Given the description of an element on the screen output the (x, y) to click on. 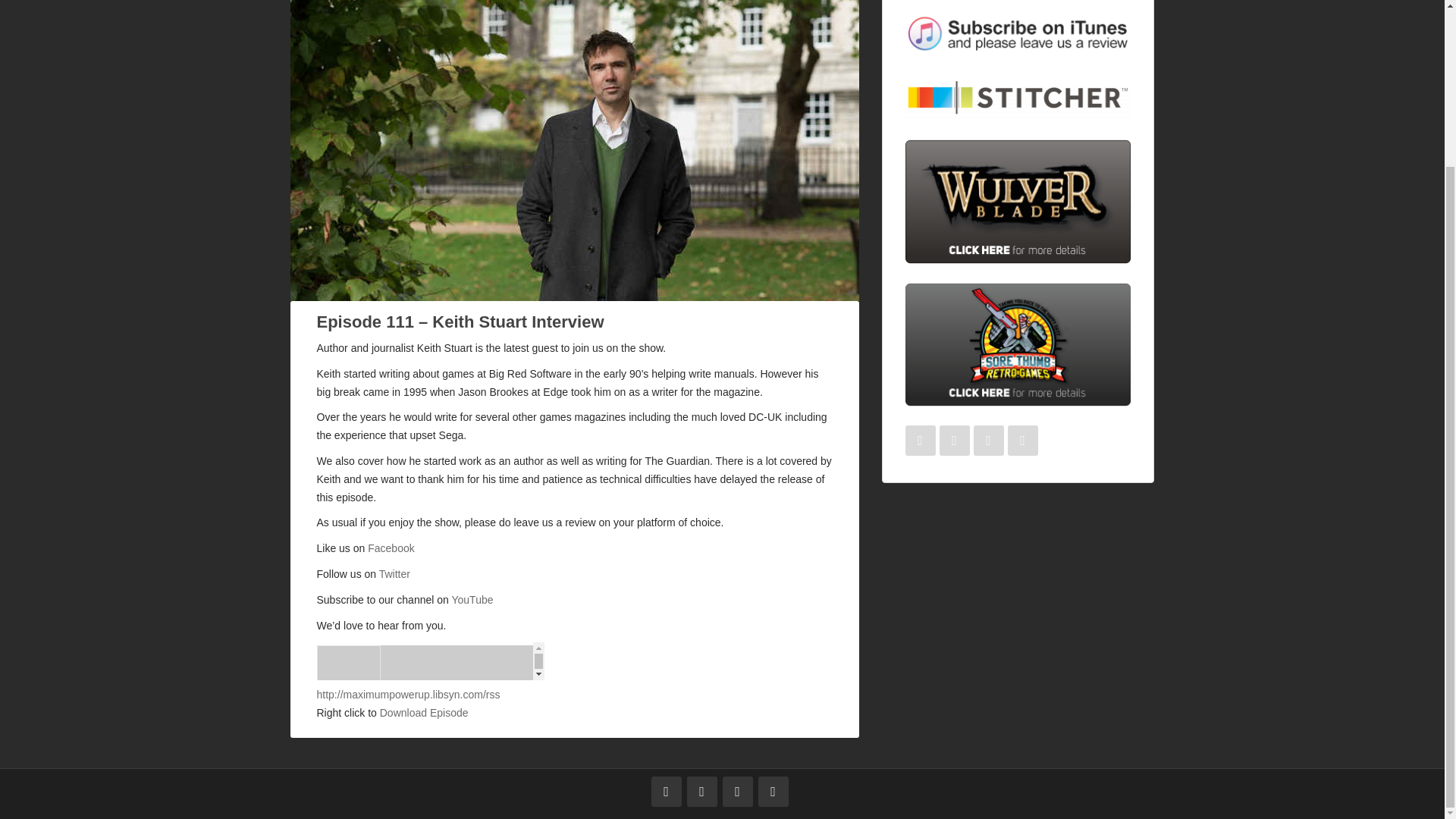
Facebook Page (390, 548)
Follow us on Facebook (665, 791)
Download Episode (424, 712)
YouTube Channel (472, 599)
Twitter (394, 573)
Follow us on Facebook (920, 440)
Follow us on Twitter (702, 791)
Twitter Page (394, 573)
Follow us on Youtube (773, 791)
Episode Download (424, 712)
